Given the description of an element on the screen output the (x, y) to click on. 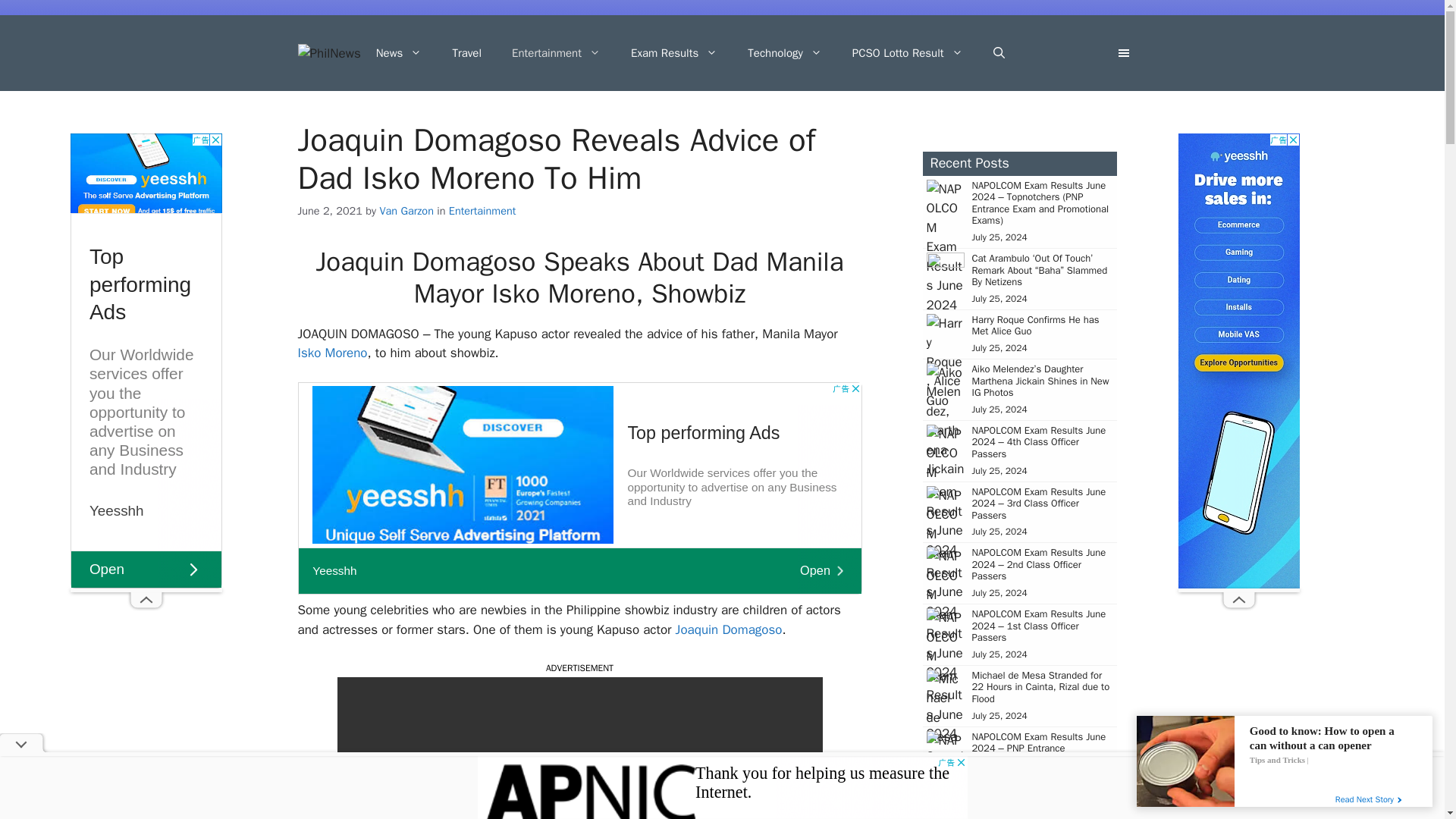
Travel (466, 53)
Exam Results (673, 53)
Advertisement (579, 488)
News (399, 53)
View all posts by Van Garzon (405, 210)
Entertainment (555, 53)
